Given the description of an element on the screen output the (x, y) to click on. 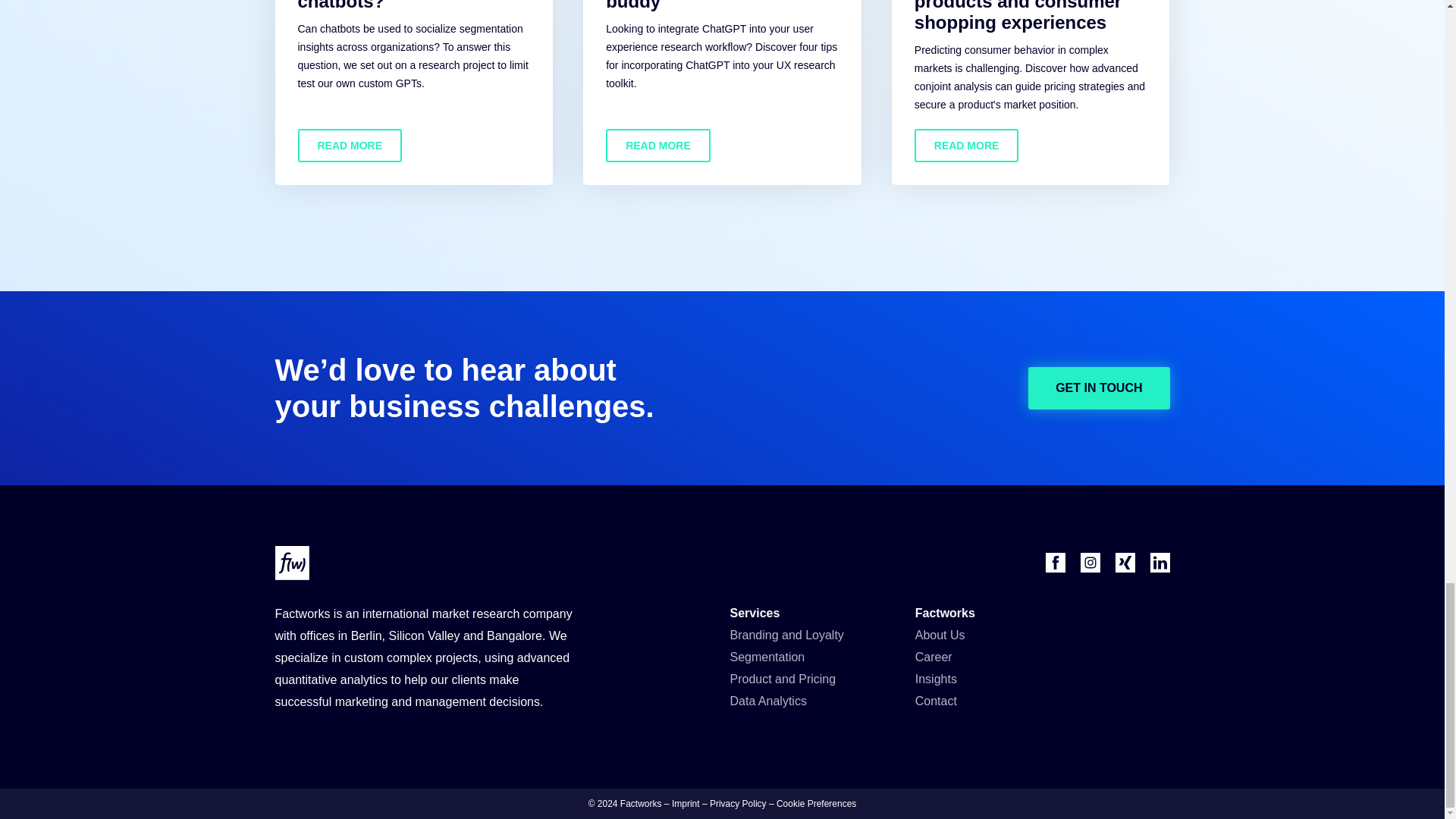
Segmentation (767, 657)
About Us (940, 635)
Contact (935, 701)
GET IN TOUCH (1098, 387)
Career (933, 657)
Product and Pricing (782, 679)
Branding and Loyalty (786, 635)
Cookie Preferences (816, 803)
Data Analytics (767, 701)
Insights (935, 679)
